Given the description of an element on the screen output the (x, y) to click on. 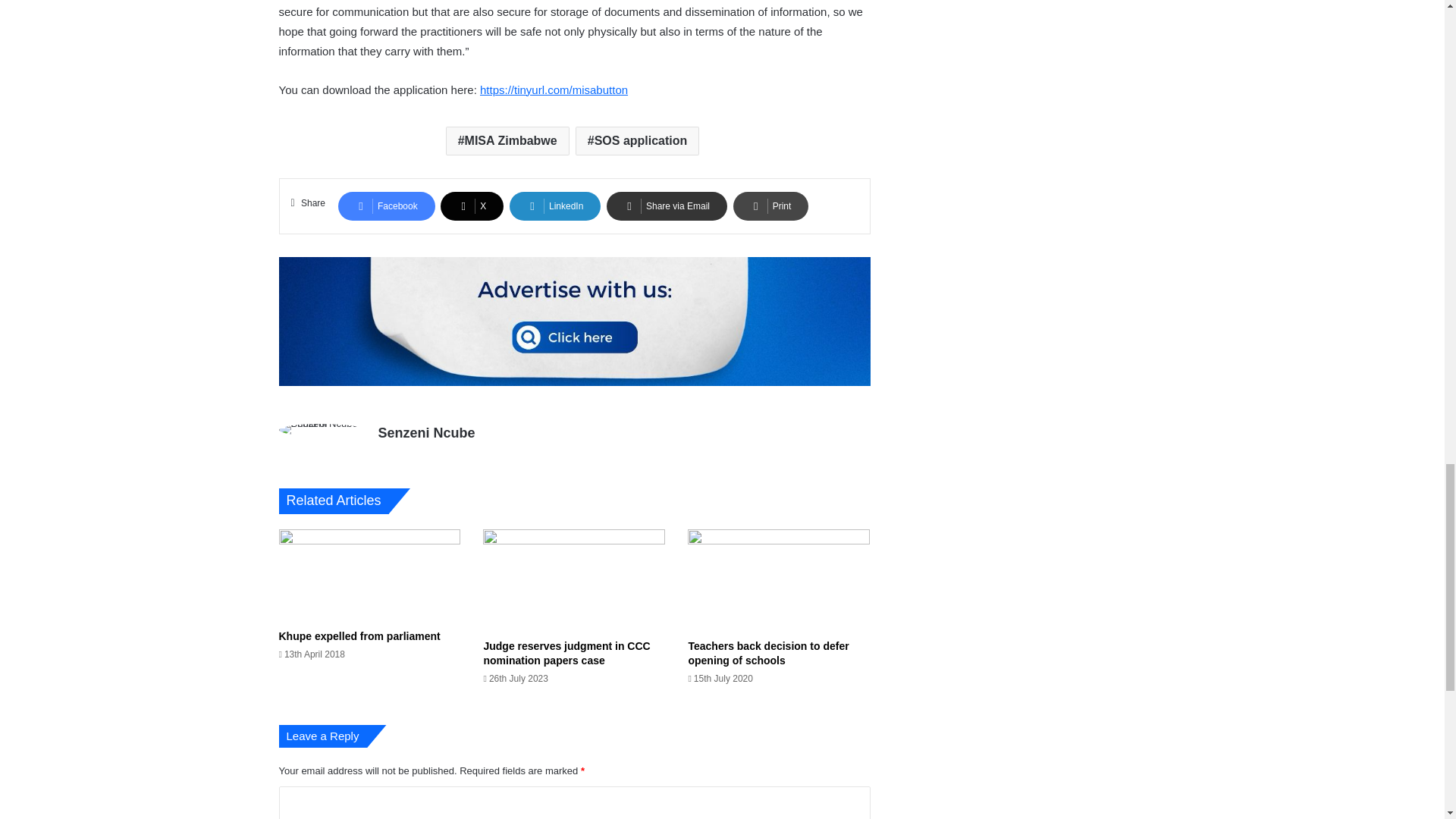
LinkedIn (554, 205)
Facebook (386, 205)
X (472, 205)
